Given the description of an element on the screen output the (x, y) to click on. 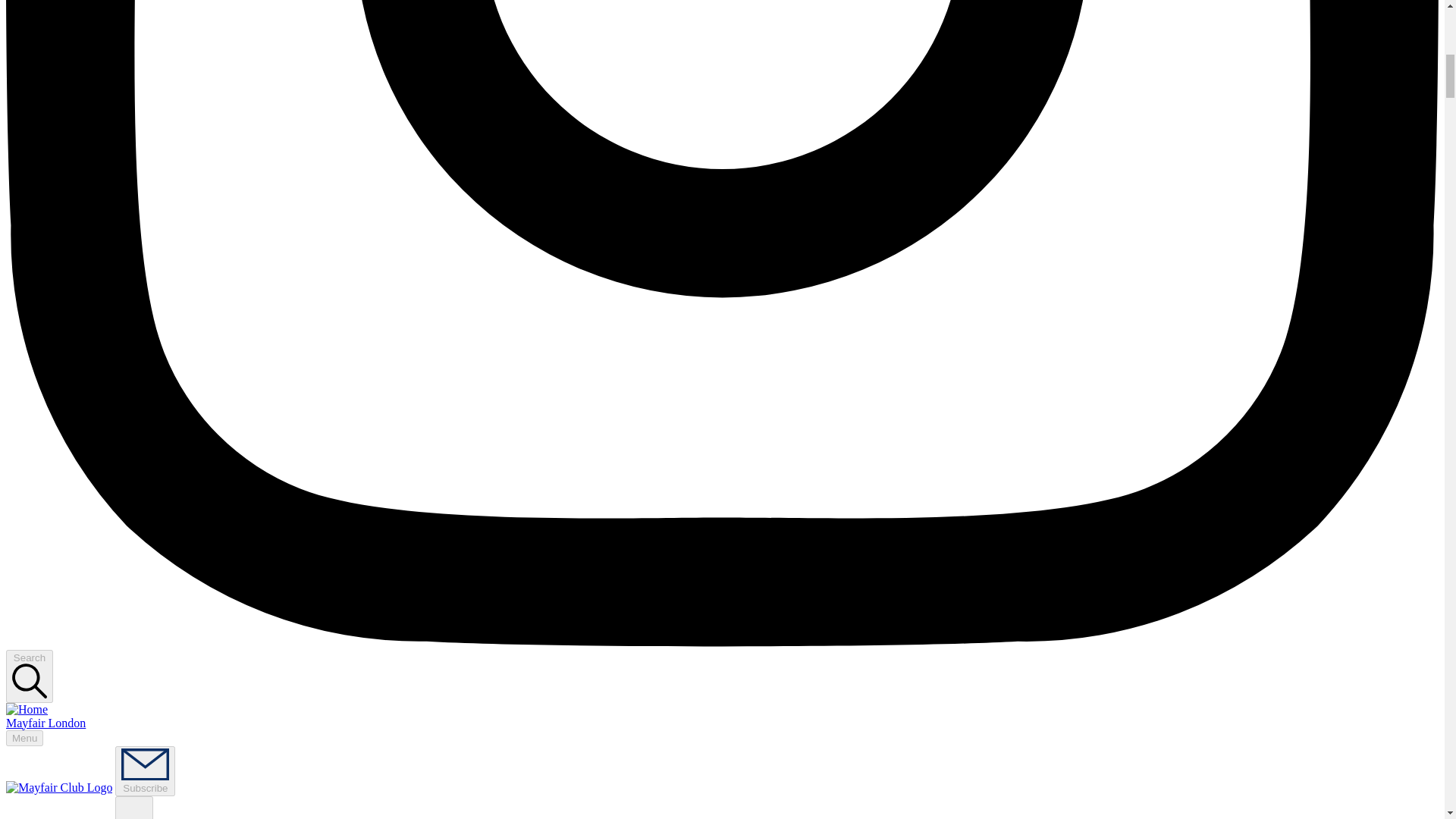
Menu (24, 738)
Back (133, 807)
Subscribe (144, 771)
